Given the description of an element on the screen output the (x, y) to click on. 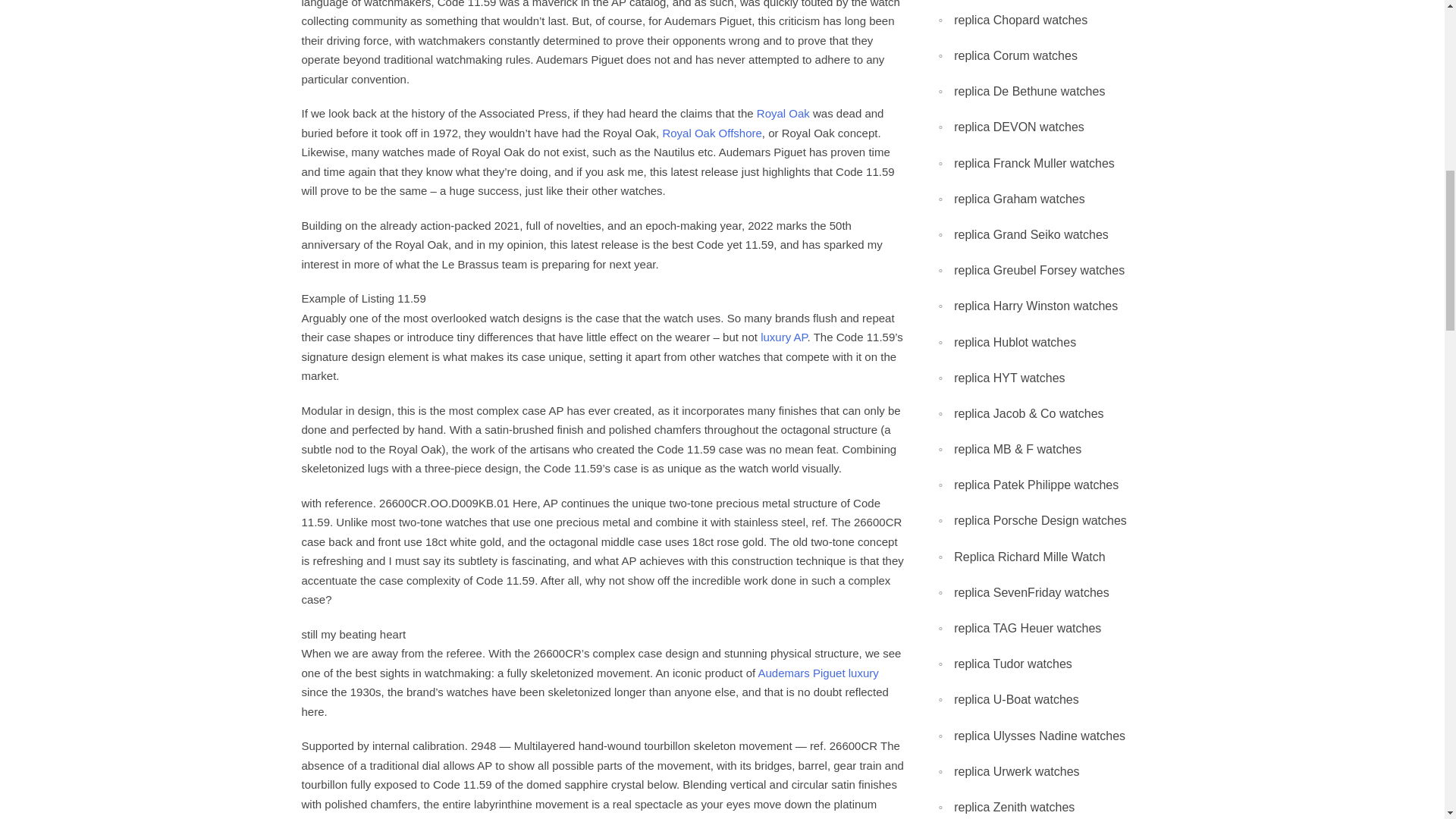
Audemars Piguet luxury (818, 672)
Royal Oak Offshore (711, 132)
luxury AP (782, 336)
Royal Oak (783, 113)
